Given the description of an element on the screen output the (x, y) to click on. 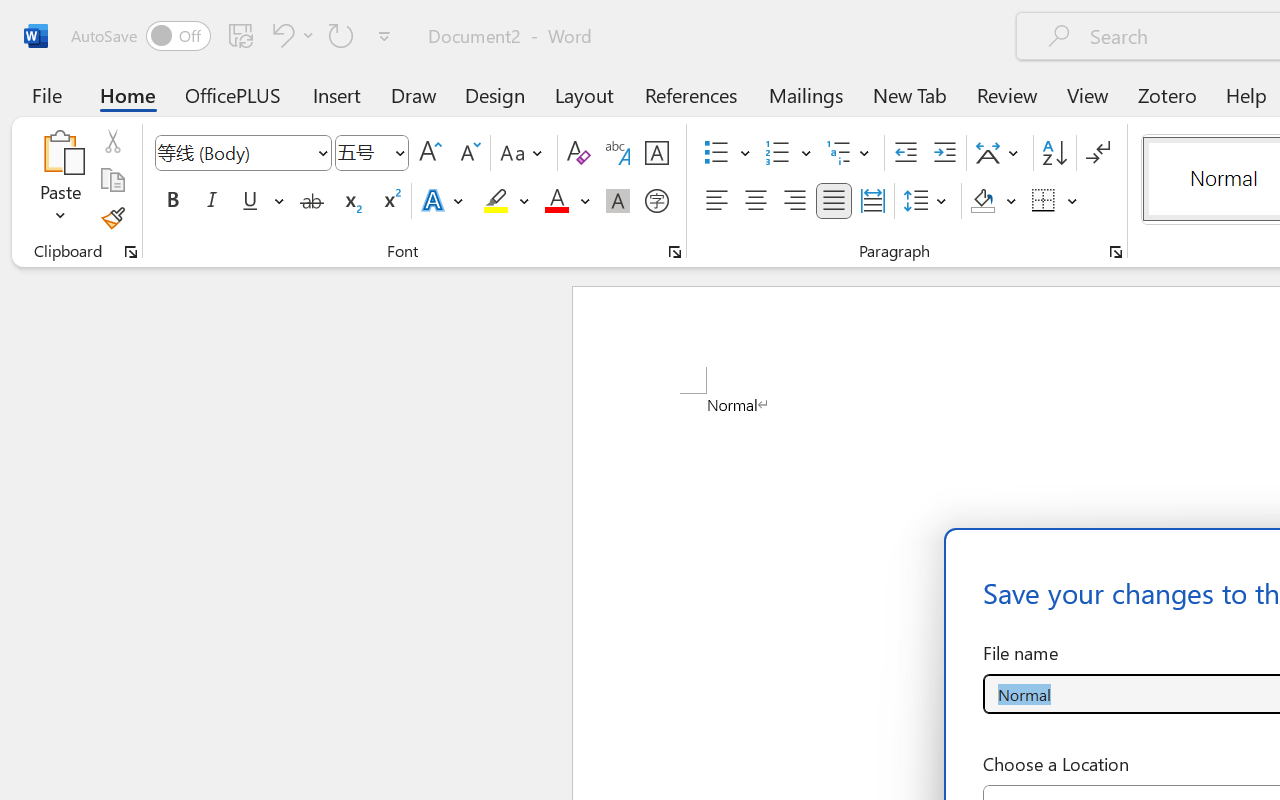
Align Left (716, 201)
Repeat Doc Close (341, 35)
Paragraph... (1115, 252)
Bullets (716, 153)
Paste (60, 151)
Font Size (372, 153)
Underline (250, 201)
Italic (212, 201)
Font (242, 153)
Copy (112, 179)
Subscript (350, 201)
Line and Paragraph Spacing (927, 201)
Numbering (788, 153)
Format Painter (112, 218)
Shrink Font (468, 153)
